Given the description of an element on the screen output the (x, y) to click on. 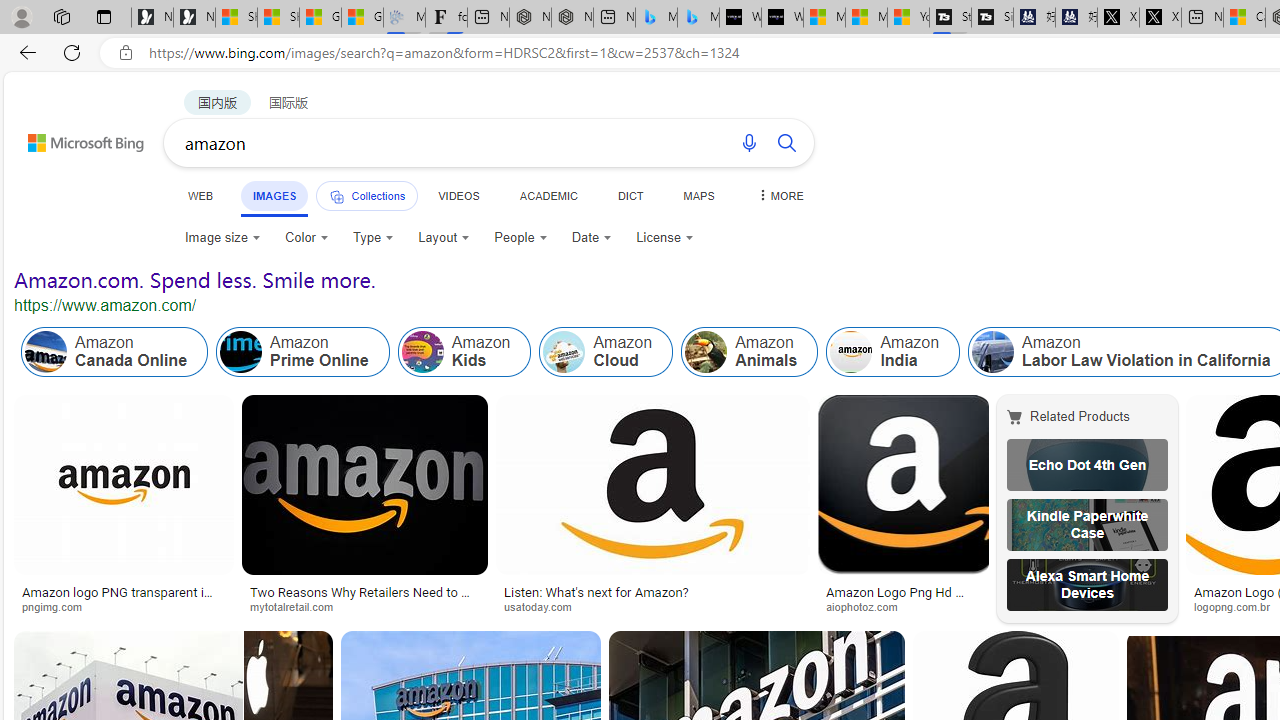
VIDEOS (458, 195)
Microsoft Bing Travel - Stays in Bangkok, Bangkok, Thailand (656, 17)
pngimg.com (123, 606)
Amazon India (893, 351)
Amazon Canada Online (114, 351)
Type (372, 237)
Amazon Animals (706, 351)
Class: item col (893, 351)
